Given the description of an element on the screen output the (x, y) to click on. 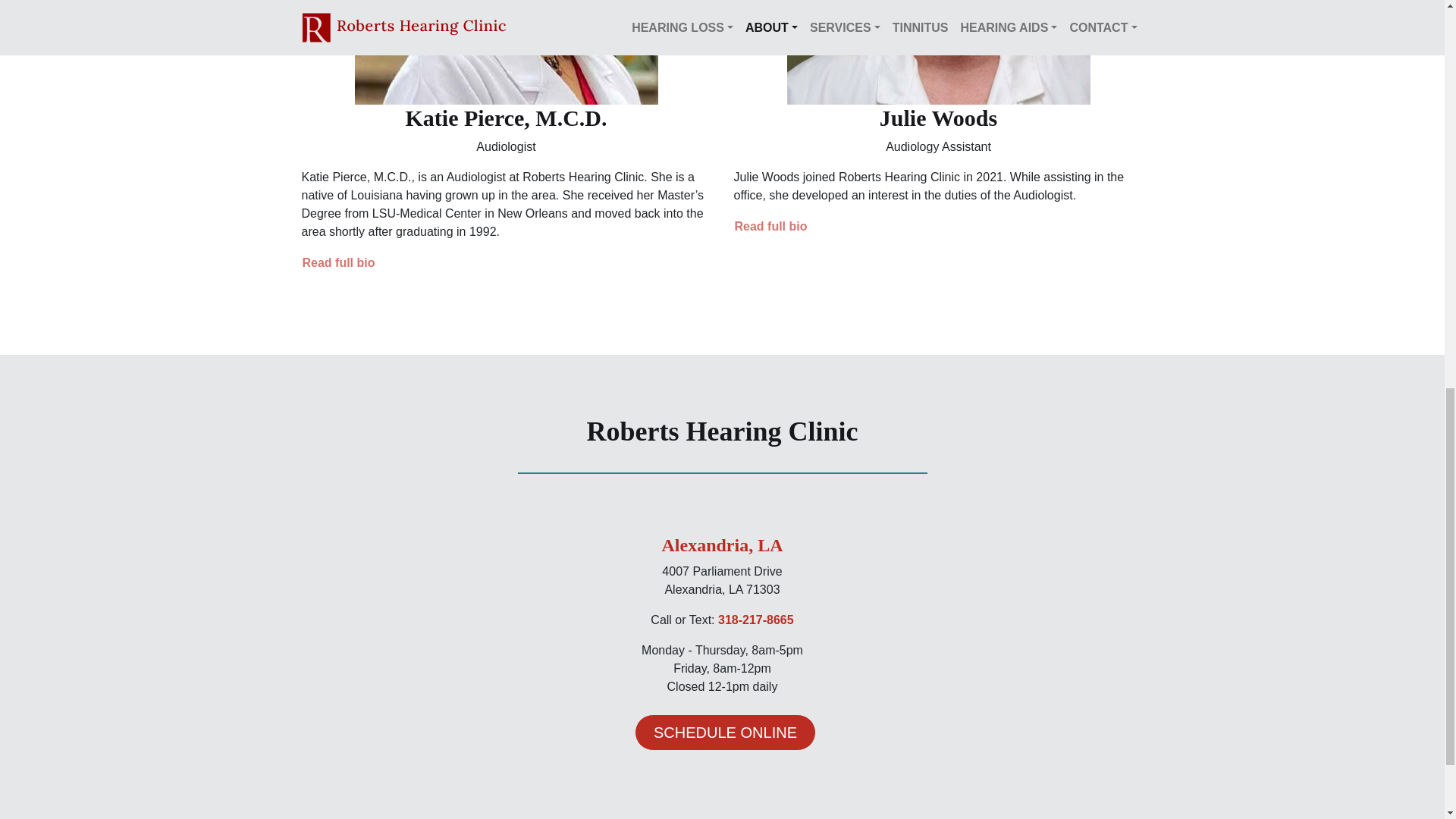
Read full bio (338, 262)
Alexandria, LA (722, 545)
Read full bio (770, 226)
318-217-8665 (755, 619)
SCHEDULE ONLINE (724, 732)
